Given the description of an element on the screen output the (x, y) to click on. 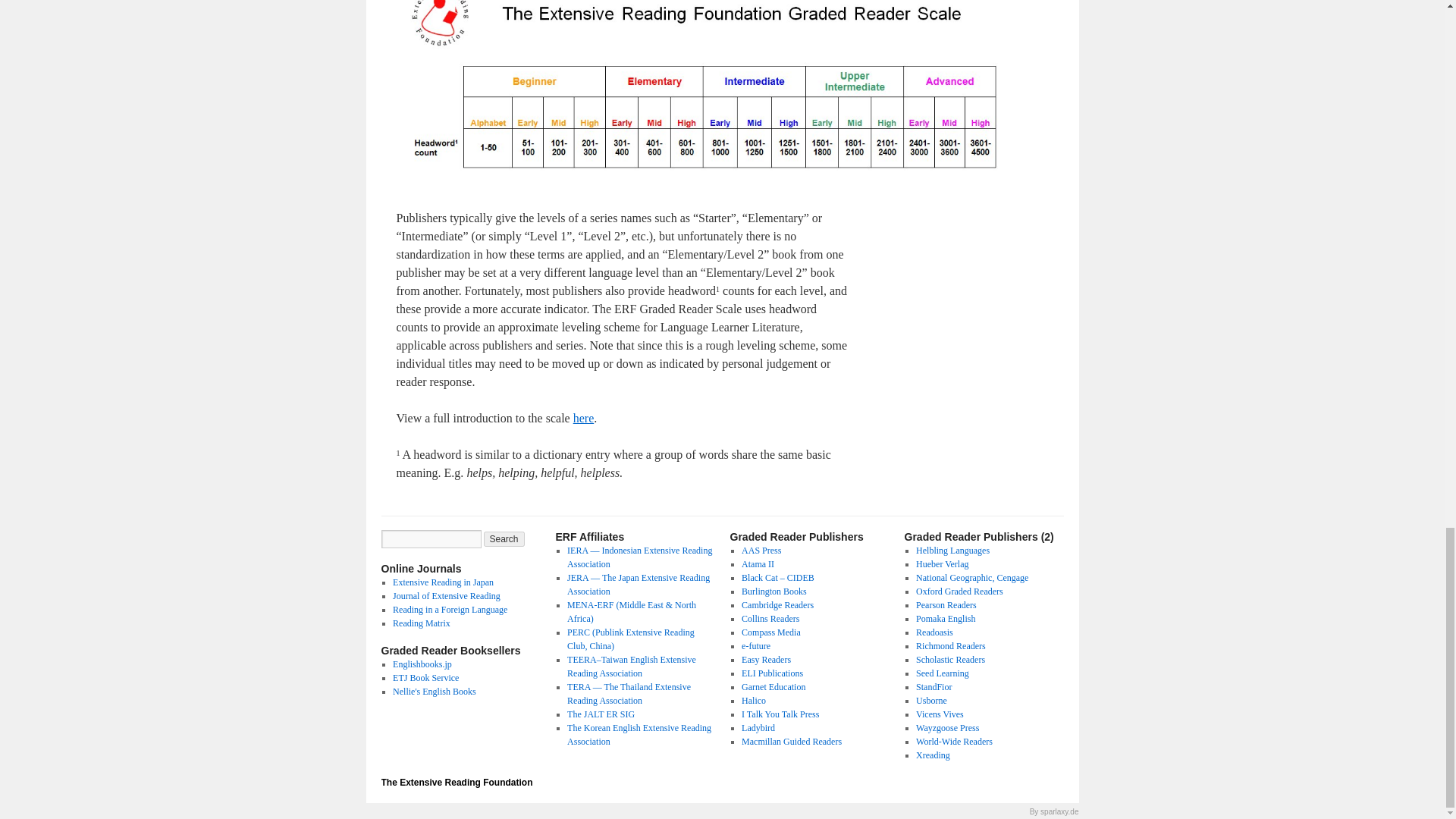
Bookseller, mainly active in Japan (422, 664)
Mainly distributes in Japan (434, 691)
Search (503, 539)
A JALT ER-SIG publication (443, 582)
Publisher of graded readers (770, 632)
Only sells in the German speaking regions of Europe (941, 563)
Japan-based service (425, 677)
Graded reader publisher (753, 700)
Graded Reaader Publisher (945, 618)
A JALT ER-SIG publication (446, 595)
